Given the description of an element on the screen output the (x, y) to click on. 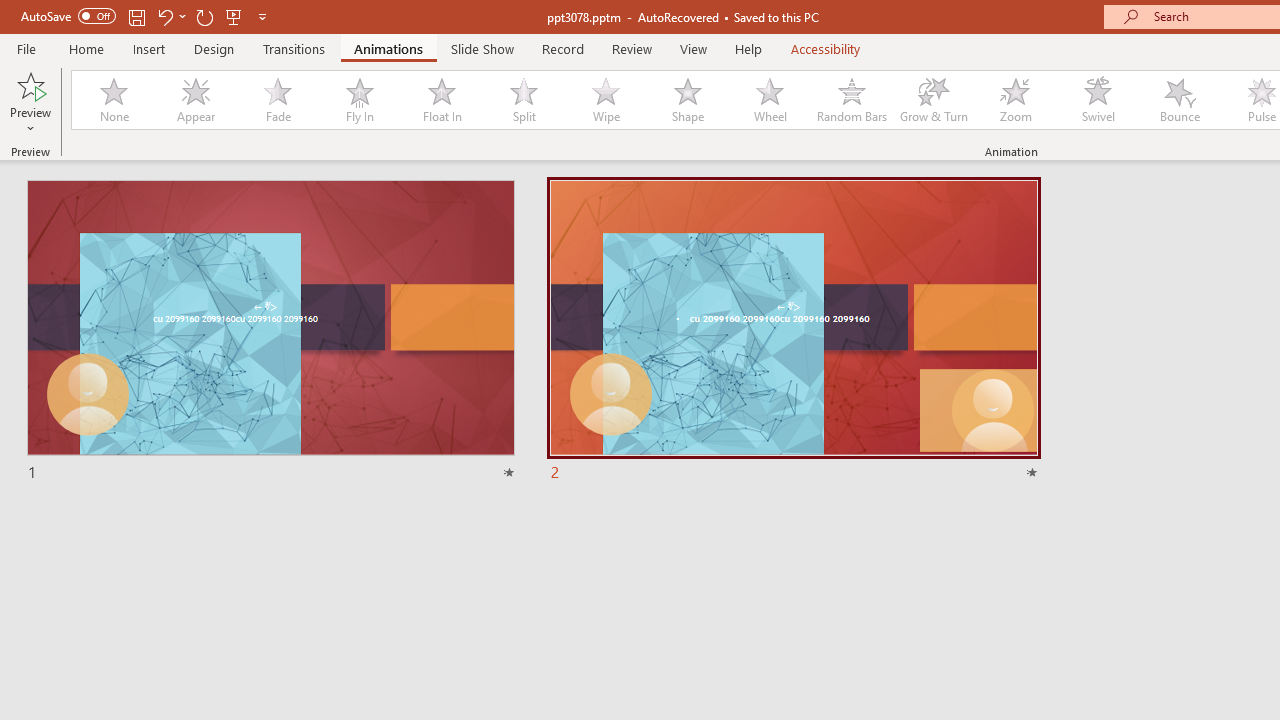
Split (523, 100)
Grow & Turn (934, 100)
Float In (441, 100)
Bounce (1180, 100)
Fade (277, 100)
